Given the description of an element on the screen output the (x, y) to click on. 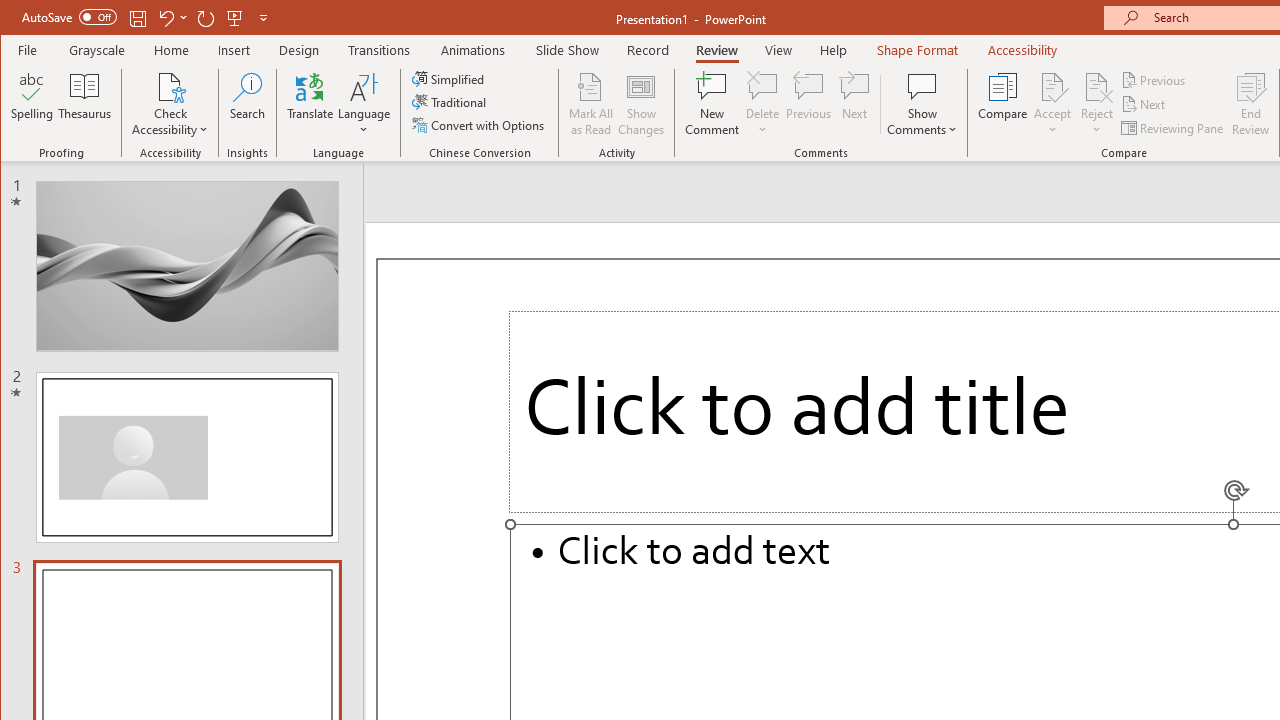
Simplified (450, 78)
Reviewing Pane (1173, 127)
